Given the description of an element on the screen output the (x, y) to click on. 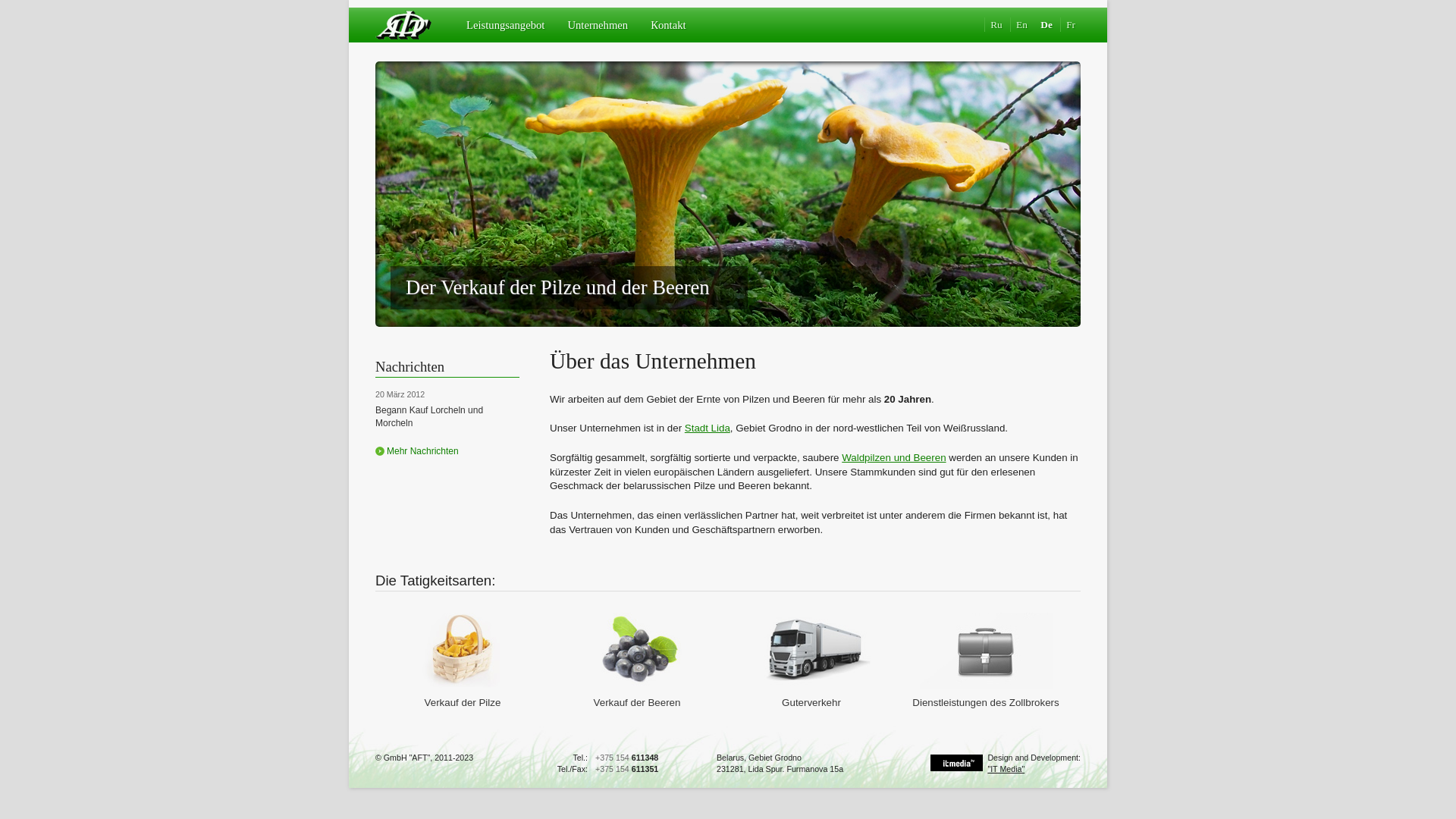
Unternehmen Element type: text (597, 29)
De Element type: text (1046, 24)
Begann Kauf Lorcheln und Morcheln Element type: text (429, 416)
Ru Element type: text (995, 24)
Guterverkehr Element type: text (811, 694)
Verkauf der Beeren Element type: text (636, 694)
Dienstleistungen des Zollbrokers Element type: text (985, 694)
"IT Media" Element type: text (1005, 768)
Stadt Lida Element type: text (707, 427)
En Element type: text (1021, 24)
Fr Element type: text (1070, 24)
Leistungsangebot Element type: text (505, 29)
Mehr Nachrichten Element type: text (416, 450)
Waldpilzen und Beeren Element type: text (893, 457)
Verkauf der Pilze Element type: text (462, 694)
